Given the description of an element on the screen output the (x, y) to click on. 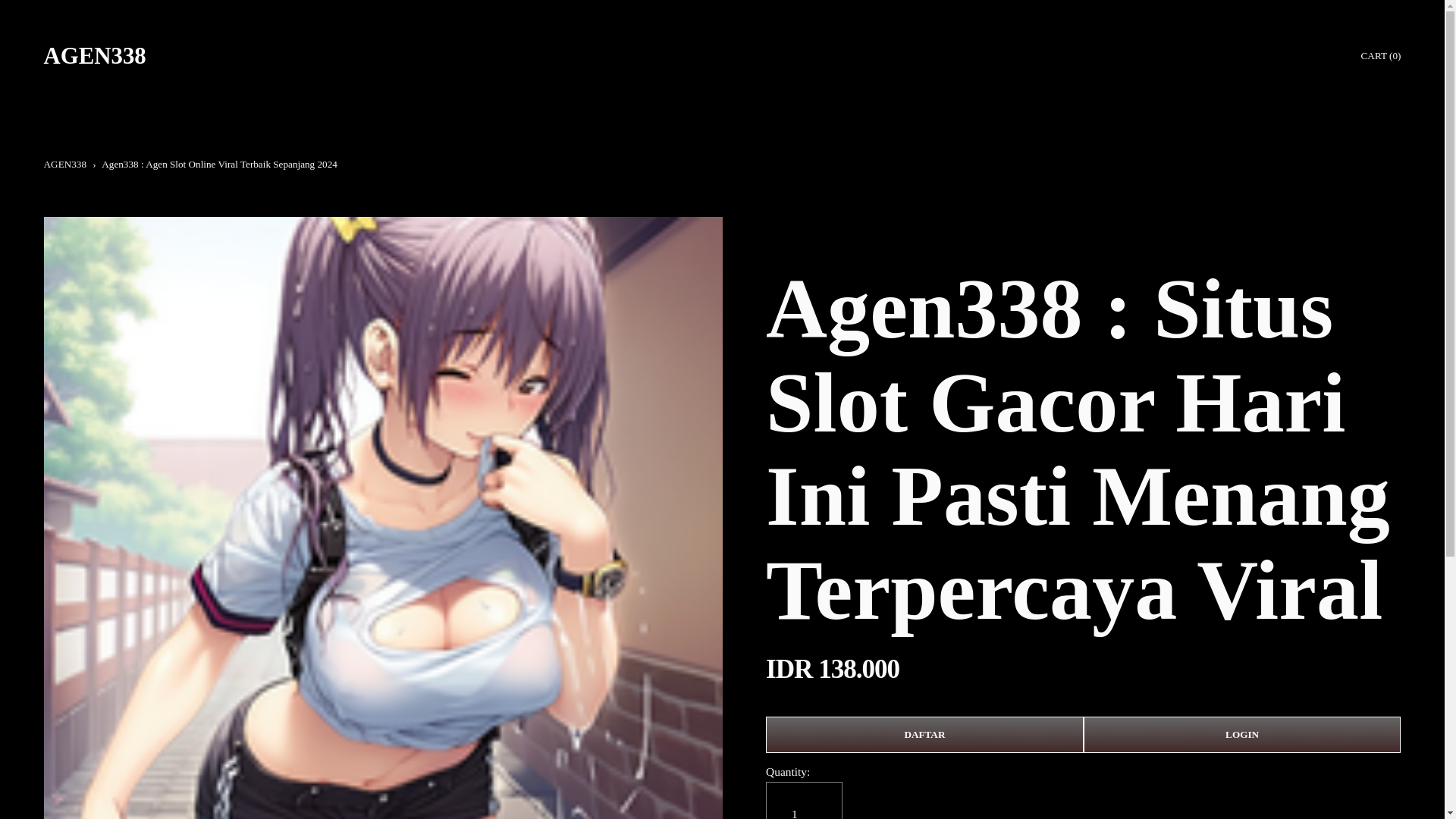
LOGIN (1241, 734)
DAFTAR (924, 734)
AGEN338 (95, 55)
Agen338 : Agen Slot Online Viral Terbaik Sepanjang 2024 (219, 163)
1 (804, 800)
AGEN338 (64, 163)
